Given the description of an element on the screen output the (x, y) to click on. 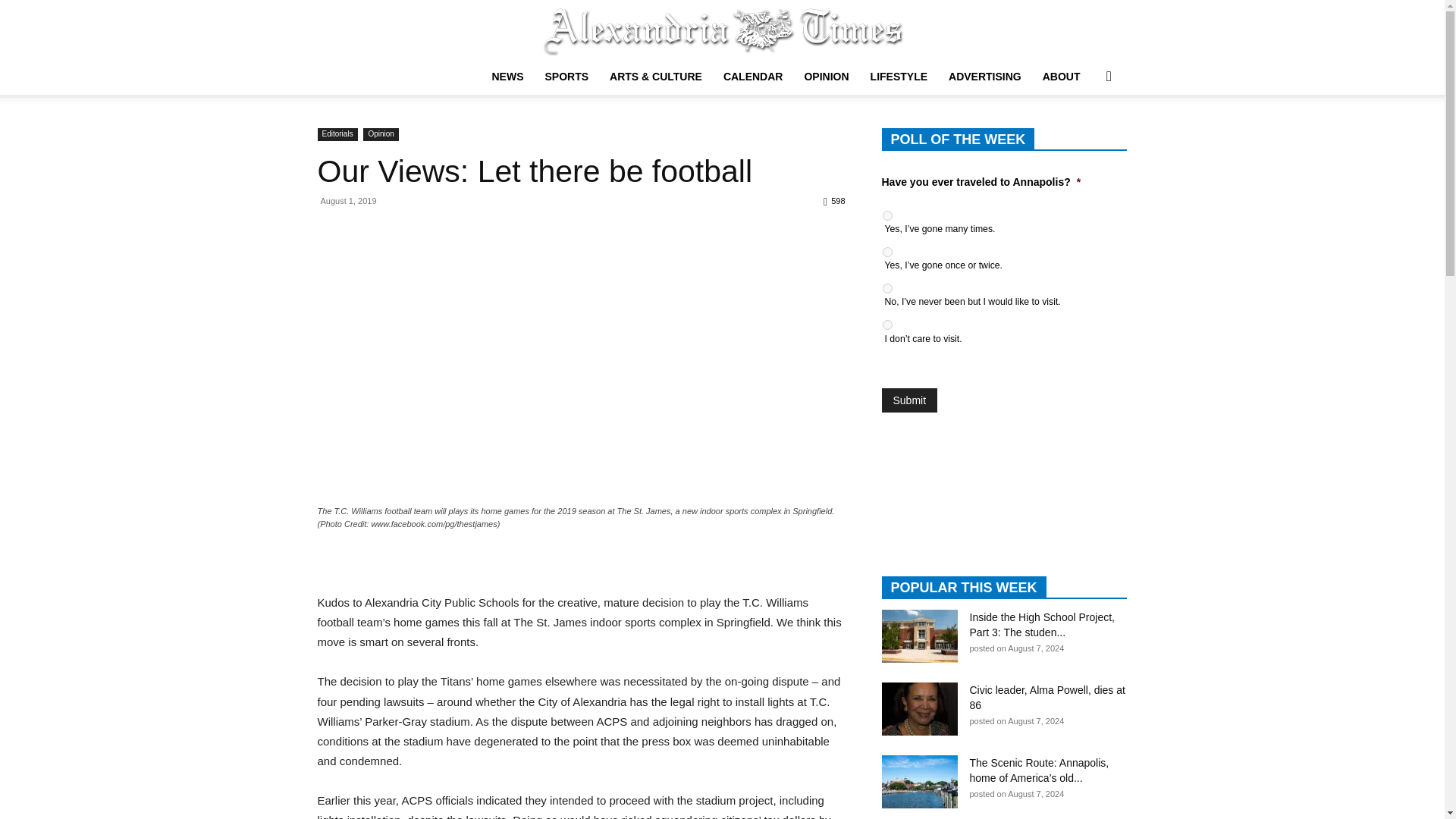
Share by email (419, 572)
gpoll17f78fa0c (887, 252)
gpoll1e62938c7 (887, 215)
Alexandria Times (722, 29)
Share on Facebook (338, 572)
Share on Twitter (379, 572)
Submit (908, 400)
Our Views: Let there be football (534, 171)
gpoll16688ac5e (887, 288)
gpoll1c49897e3 (887, 325)
